Given the description of an element on the screen output the (x, y) to click on. 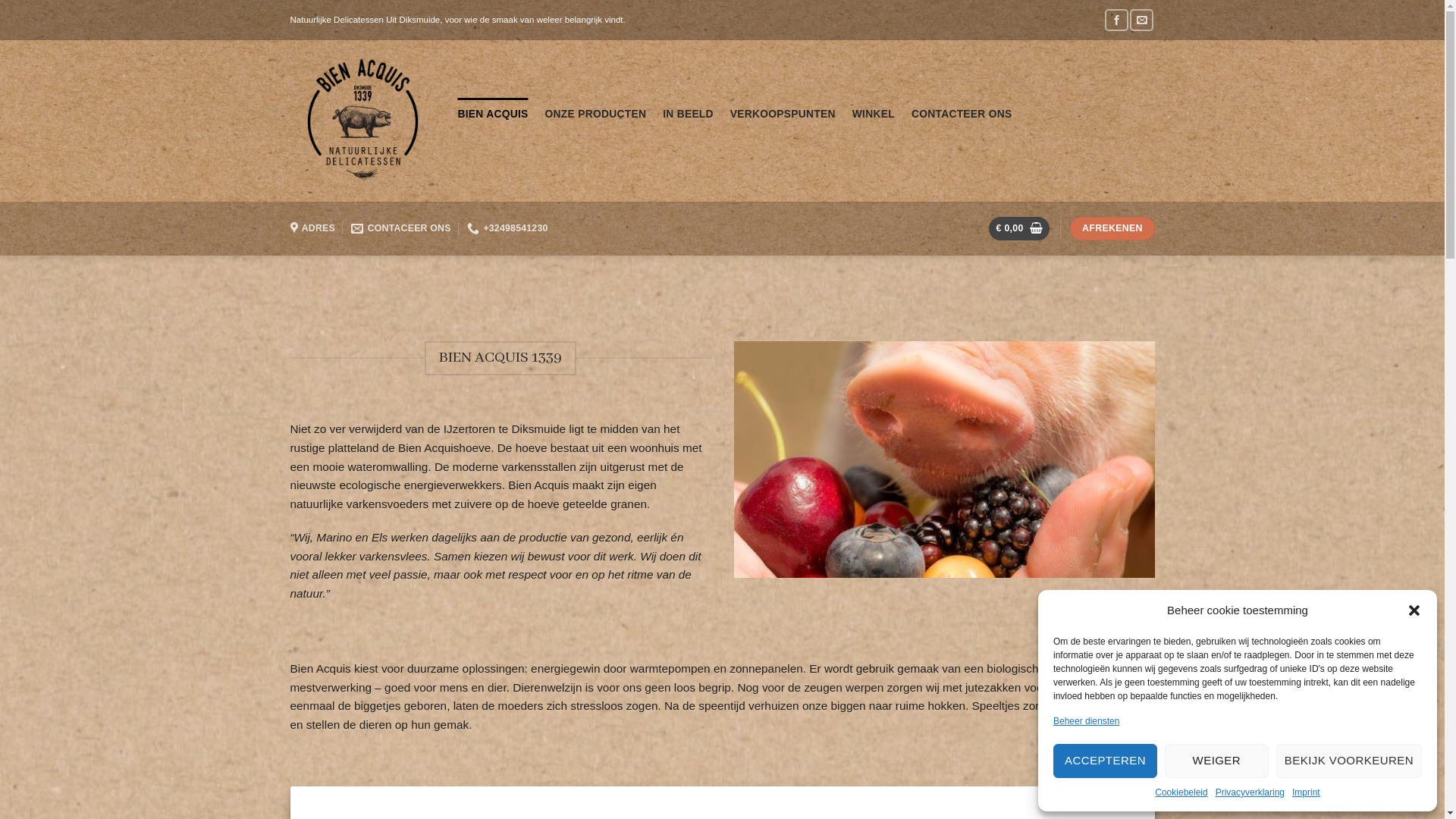
Send us an email Element type: hover (1141, 19)
Beheer diensten Element type: text (1086, 721)
WINKEL Element type: text (873, 113)
ADRES Element type: text (311, 228)
CONTACTEER ONS Element type: text (961, 113)
CONTACEER ONS Element type: text (400, 228)
BIEN ACQUIS Element type: text (493, 113)
AFREKENEN Element type: text (1112, 228)
BEKIJK VOORKEUREN Element type: text (1348, 760)
IN BEELD Element type: text (687, 113)
+32498541230 Element type: text (507, 228)
WEIGER Element type: text (1216, 760)
Imprint Element type: text (1306, 792)
Cookiebeleid Element type: text (1180, 792)
Skip to content Element type: text (0, 0)
ACCEPTEREN Element type: text (1105, 760)
ONZE PRODUCTEN Element type: text (595, 113)
Bien Acquis - Natuurlijke delicatessen uit Diksmuide Element type: hover (361, 120)
Follow on Facebook Element type: hover (1116, 19)
VERKOOPSPUNTEN Element type: text (782, 113)
Privacyverklaring Element type: text (1249, 792)
